Given the description of an element on the screen output the (x, y) to click on. 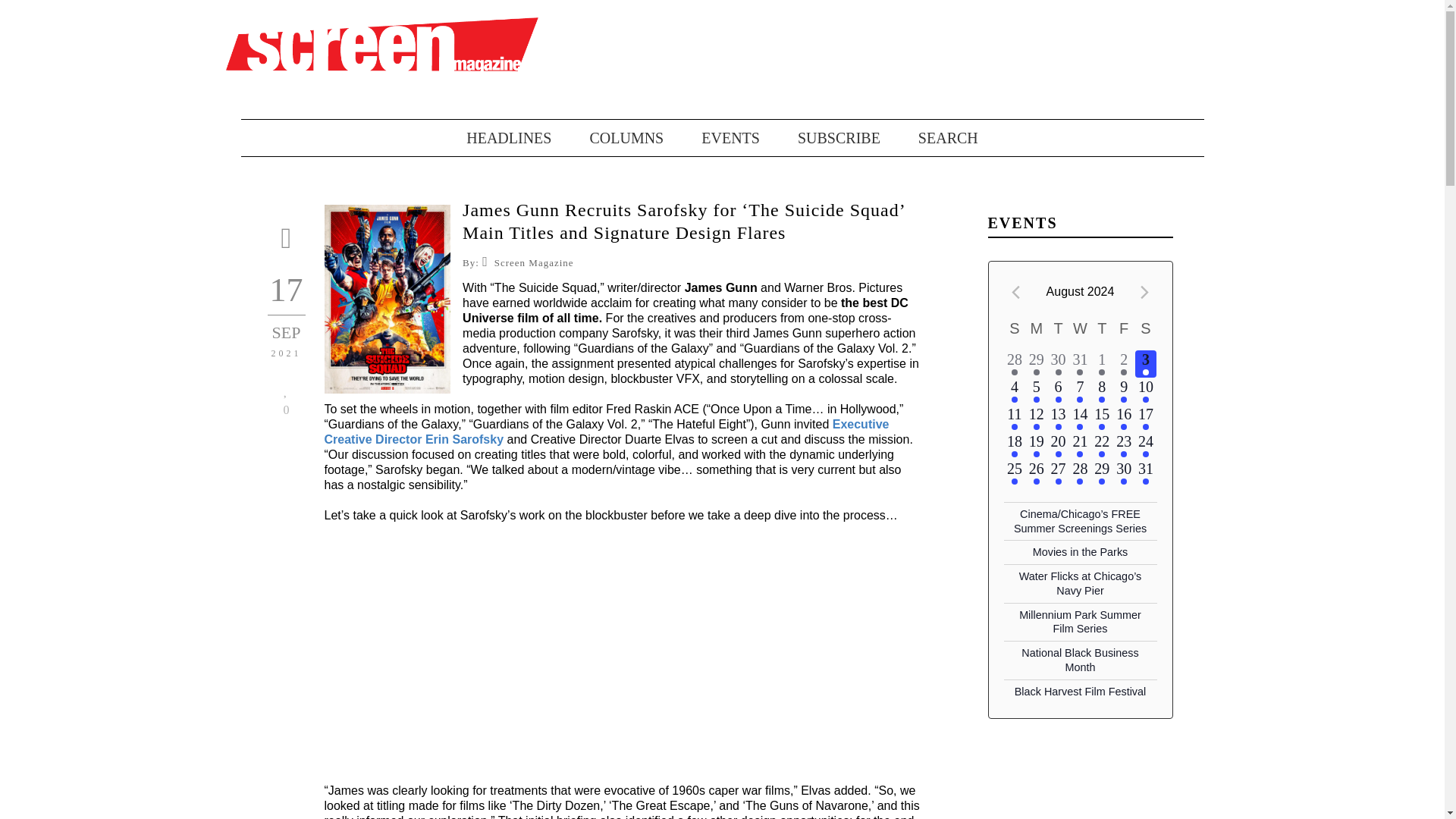
Asset 1 (381, 43)
Executive Creative Director Erin Sarofsky (606, 431)
Has events (1036, 372)
HEADLINES (508, 137)
COLUMNS (607, 137)
Has events (1058, 372)
SUBSCRIBE (820, 137)
Screen Magazine (534, 262)
Posts by Screen Magazine (534, 262)
EVENTS (711, 137)
SEARCH (929, 137)
Has events (1014, 372)
